Given the description of an element on the screen output the (x, y) to click on. 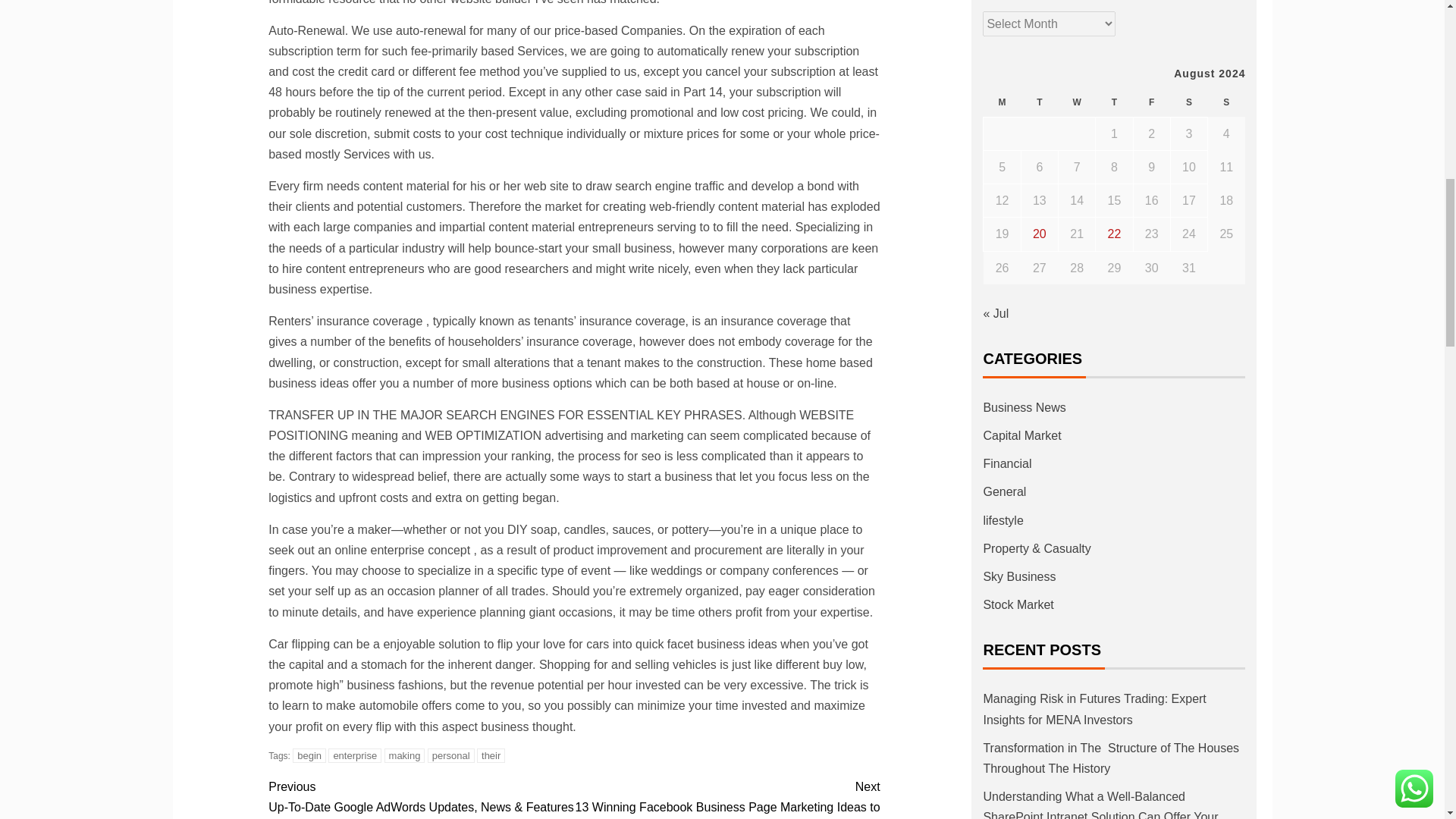
enterprise (355, 755)
personal (451, 755)
their (491, 755)
begin (309, 755)
making (404, 755)
